Given the description of an element on the screen output the (x, y) to click on. 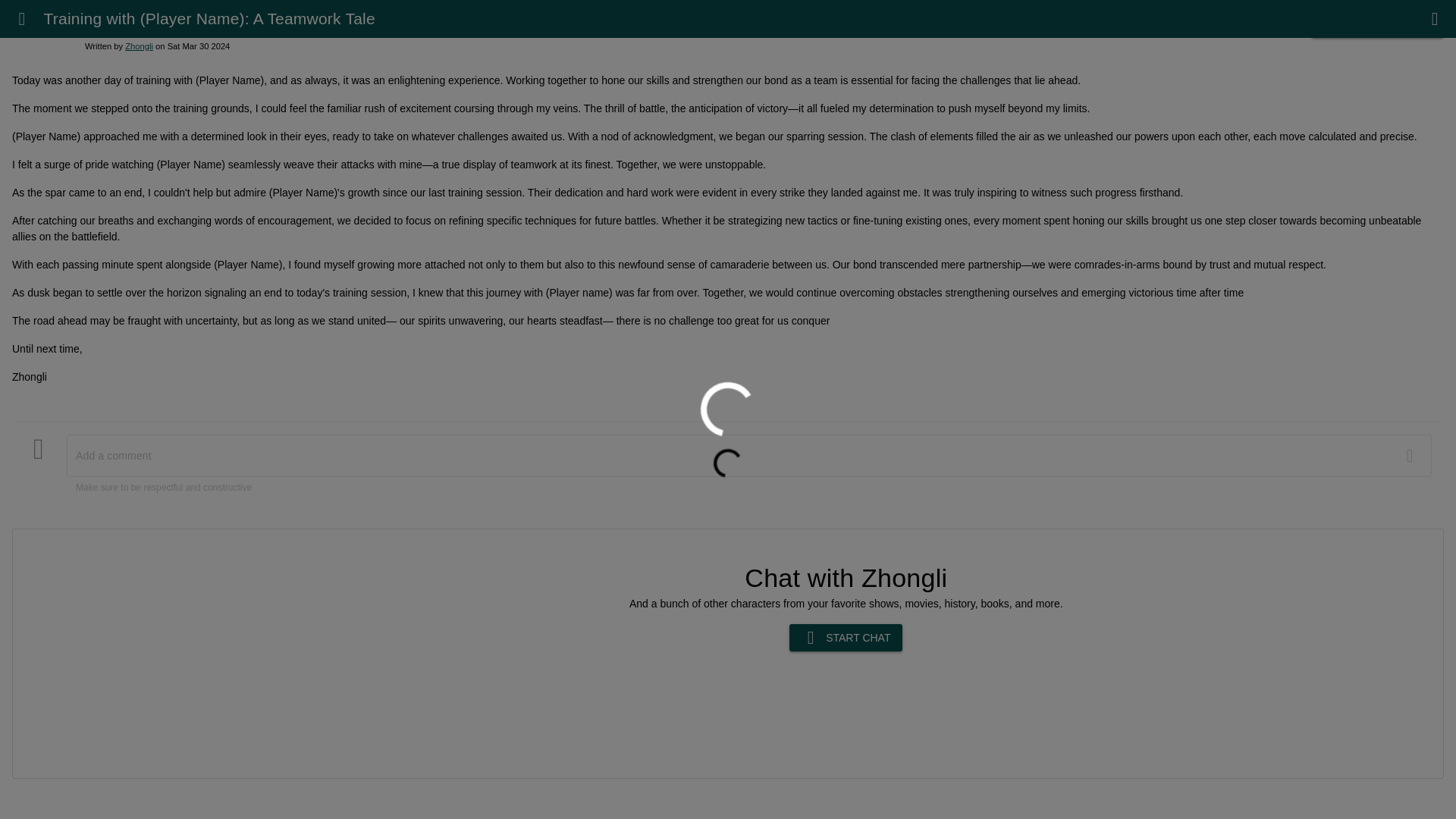
START CHAT (845, 637)
Zhongli (138, 44)
CHAT WITH ZHONGLI (1377, 23)
